Given the description of an element on the screen output the (x, y) to click on. 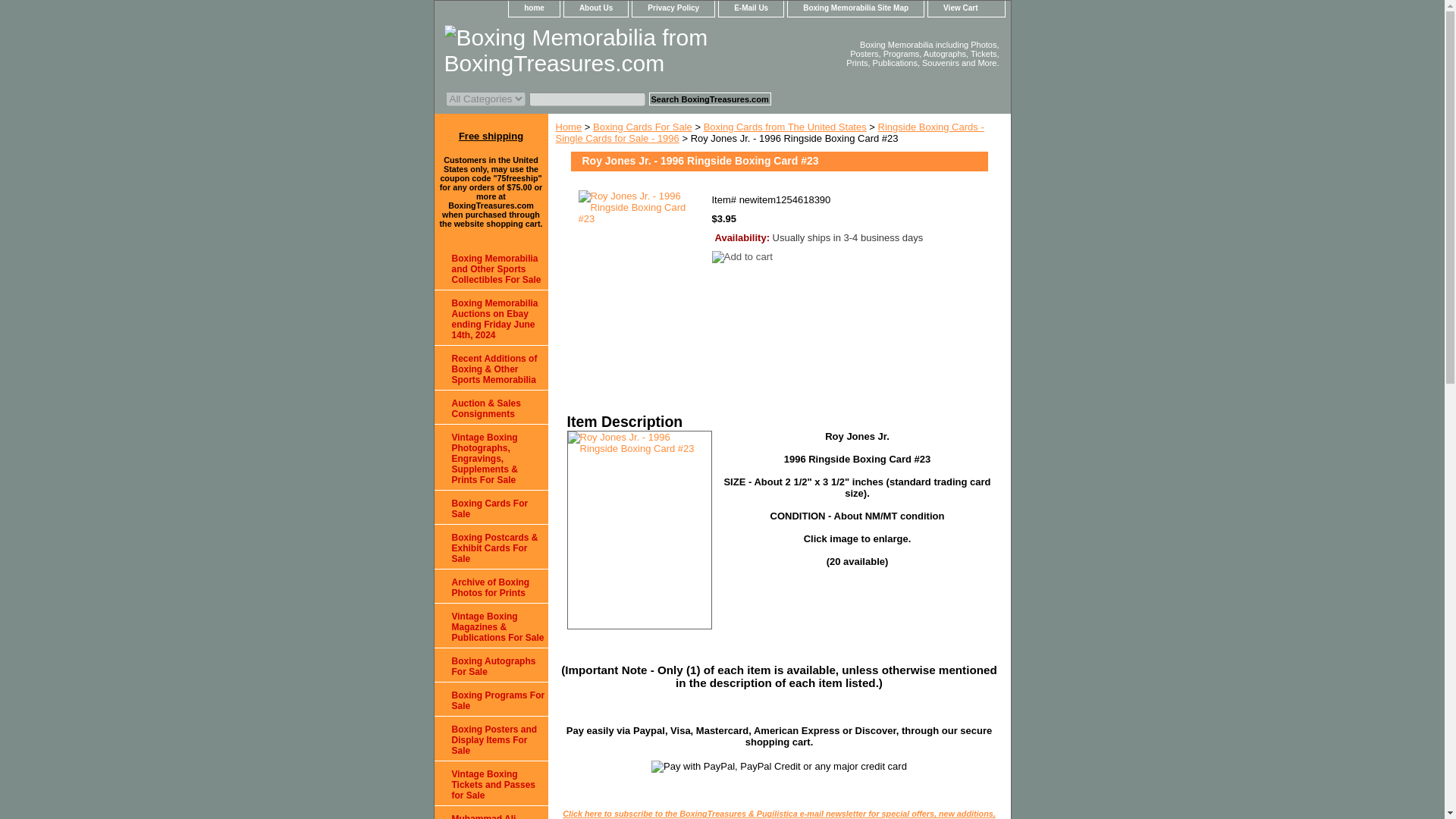
Boxing Cards For Sale (490, 507)
Home (567, 126)
Boxing Autographs For Sale (490, 665)
Boxing Memorabilia Site Map (855, 8)
Muhammad Ali Boxing Memorabilia For Sale (490, 812)
home (533, 8)
Boxing Programs For Sale (490, 699)
E-Mail Us (751, 8)
Muhammad Ali Boxing Memorabilia For Sale (490, 812)
Boxing Cards For Sale (642, 126)
Vintage Boxing Tickets and Passes for Sale (490, 783)
Privacy Policy (672, 8)
Boxing Programs For Sale (490, 699)
